Given the description of an element on the screen output the (x, y) to click on. 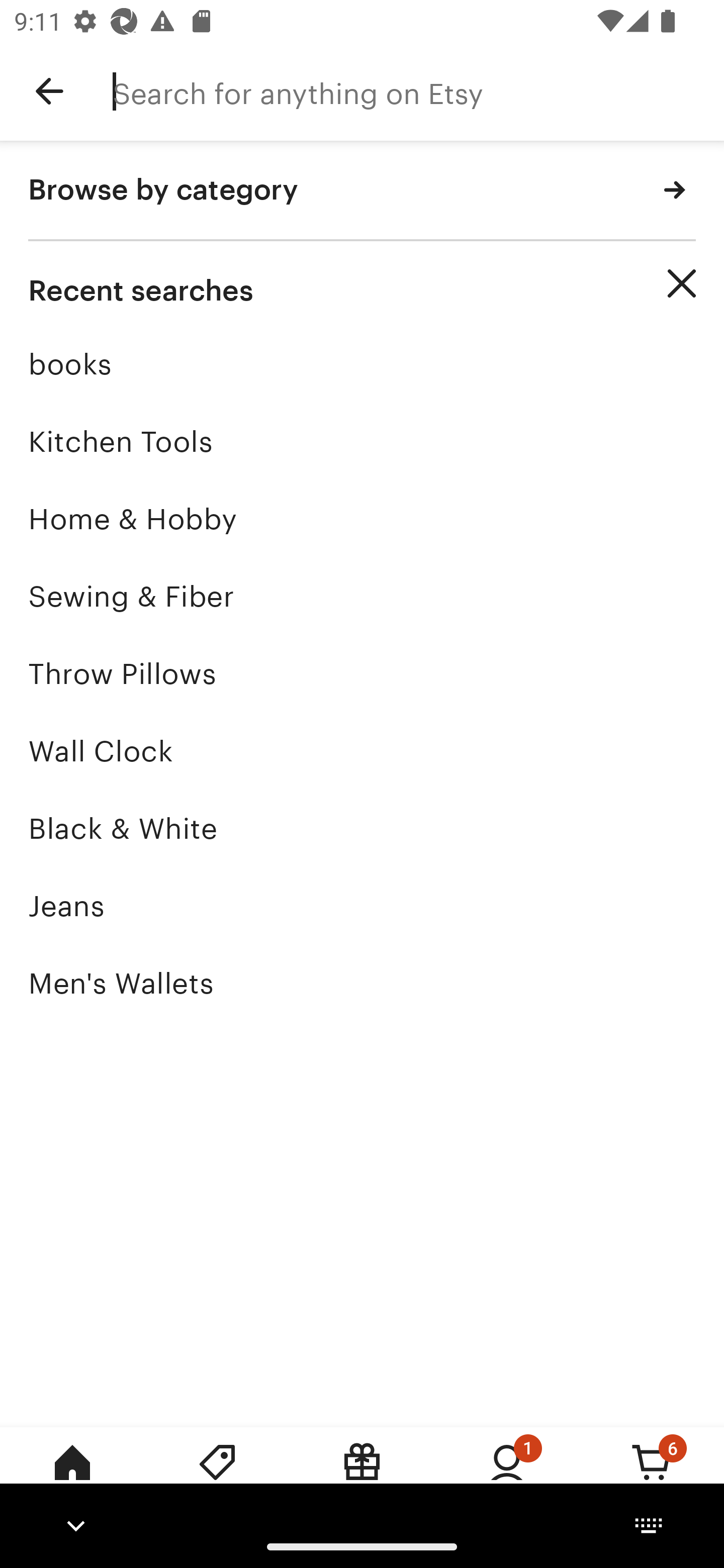
Navigate up (49, 91)
Search for anything on Etsy (418, 91)
Browse by category (362, 191)
Clear (681, 283)
books (362, 364)
Kitchen Tools (362, 440)
Home & Hobby (362, 518)
Sewing & Fiber (362, 596)
Throw Pillows (362, 673)
Wall Clock (362, 750)
Black & White (362, 828)
Jeans (362, 906)
Men's Wallets (362, 983)
Deals (216, 1475)
Gift Mode (361, 1475)
You, 1 new notification (506, 1475)
Cart, 6 new notifications (651, 1475)
